Given the description of an element on the screen output the (x, y) to click on. 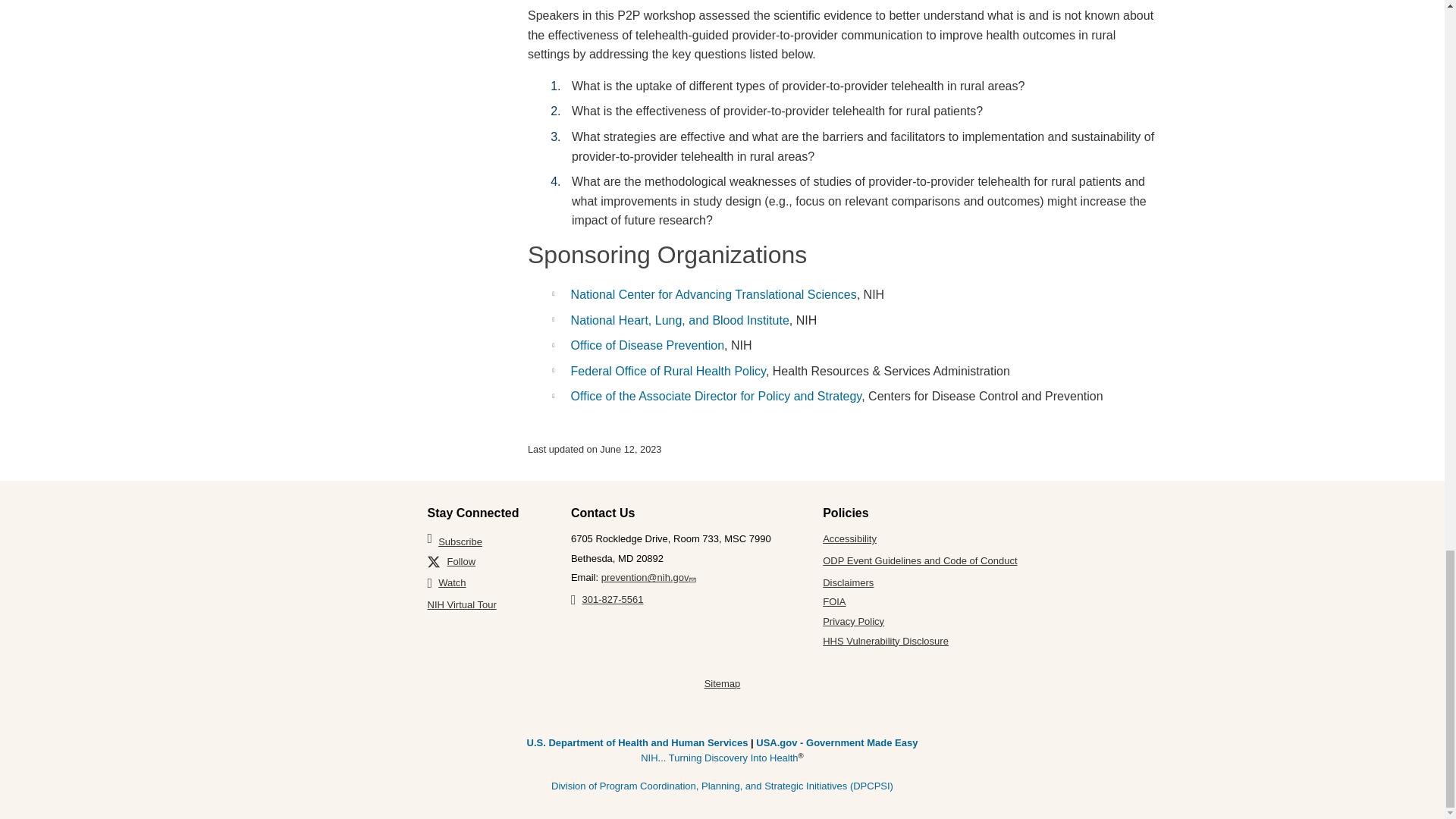
ODP Phone number (606, 599)
